Given the description of an element on the screen output the (x, y) to click on. 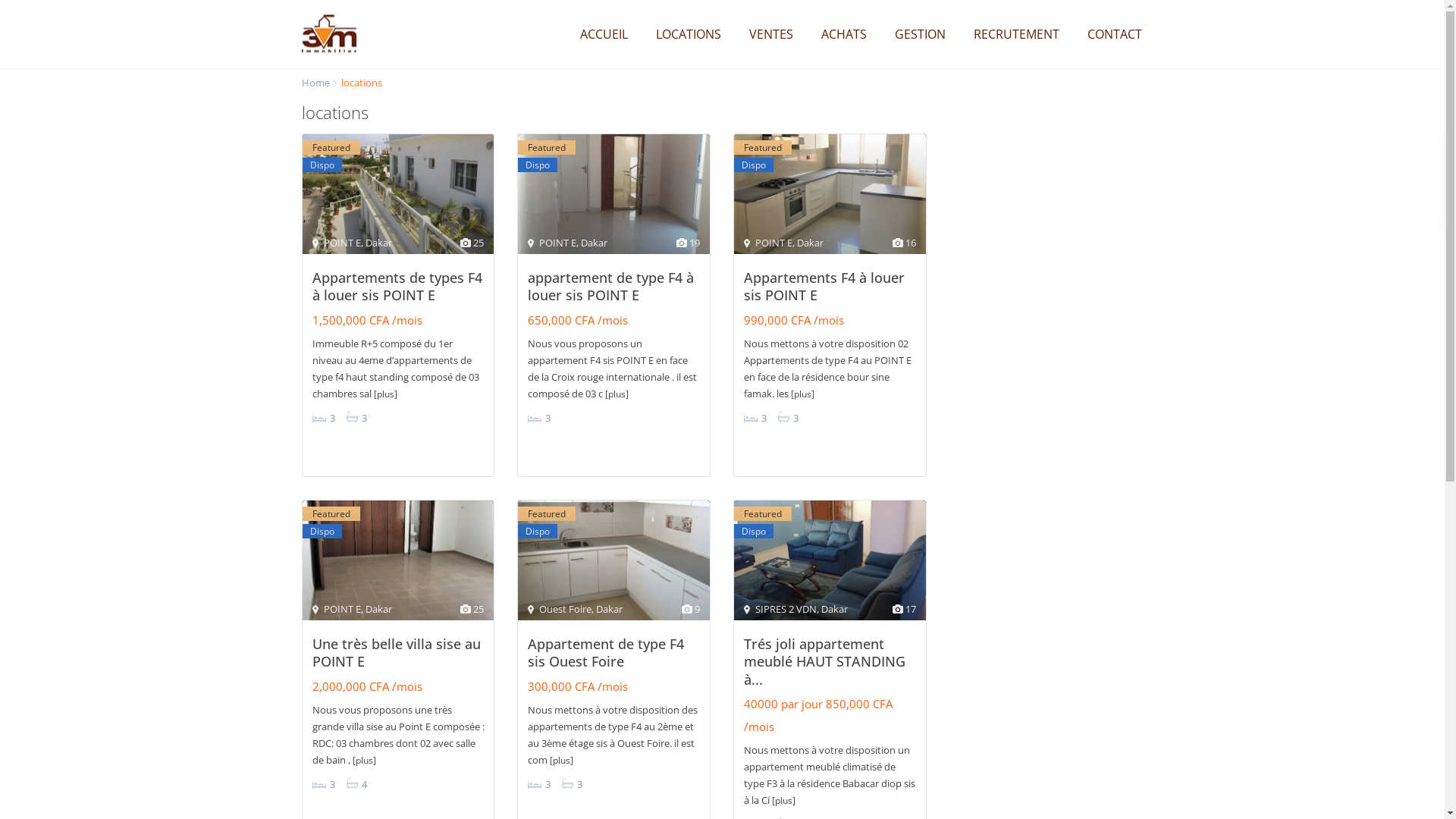
Dakar Element type: text (834, 608)
ACCUEIL Element type: text (603, 34)
POINT E Element type: text (557, 242)
Appartement de type F4 sis Ouest Foire Element type: text (605, 652)
[plus] Element type: text (363, 759)
Dakar Element type: text (810, 242)
Ouest Foire Element type: text (565, 608)
[plus] Element type: text (561, 759)
VENTES Element type: text (770, 34)
GESTION Element type: text (919, 34)
SIPRES 2 VDN Element type: text (785, 608)
RECRUTEMENT Element type: text (1015, 34)
Home Element type: text (315, 82)
[plus] Element type: text (616, 393)
[plus] Element type: text (384, 393)
LOCATIONS Element type: text (688, 34)
[plus] Element type: text (783, 799)
POINT E Element type: text (773, 242)
Dakar Element type: text (593, 242)
Dakar Element type: text (378, 242)
POINT E Element type: text (341, 242)
[plus] Element type: text (802, 393)
Dakar Element type: text (378, 608)
ACHATS Element type: text (843, 34)
POINT E Element type: text (341, 608)
CONTACT Element type: text (1113, 34)
Dakar Element type: text (609, 608)
